Given the description of an element on the screen output the (x, y) to click on. 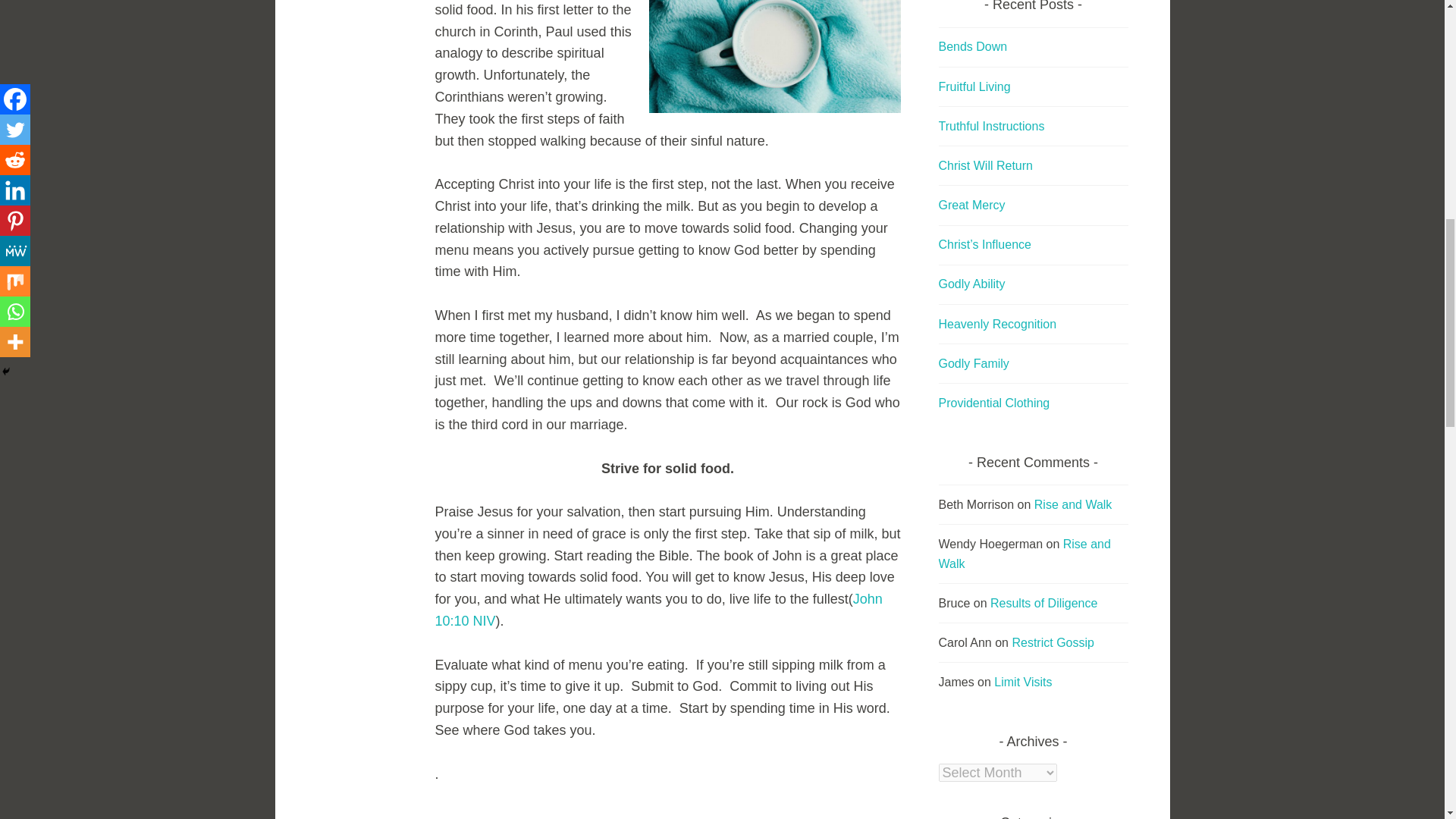
John 10:10 NIV (658, 609)
